Given the description of an element on the screen output the (x, y) to click on. 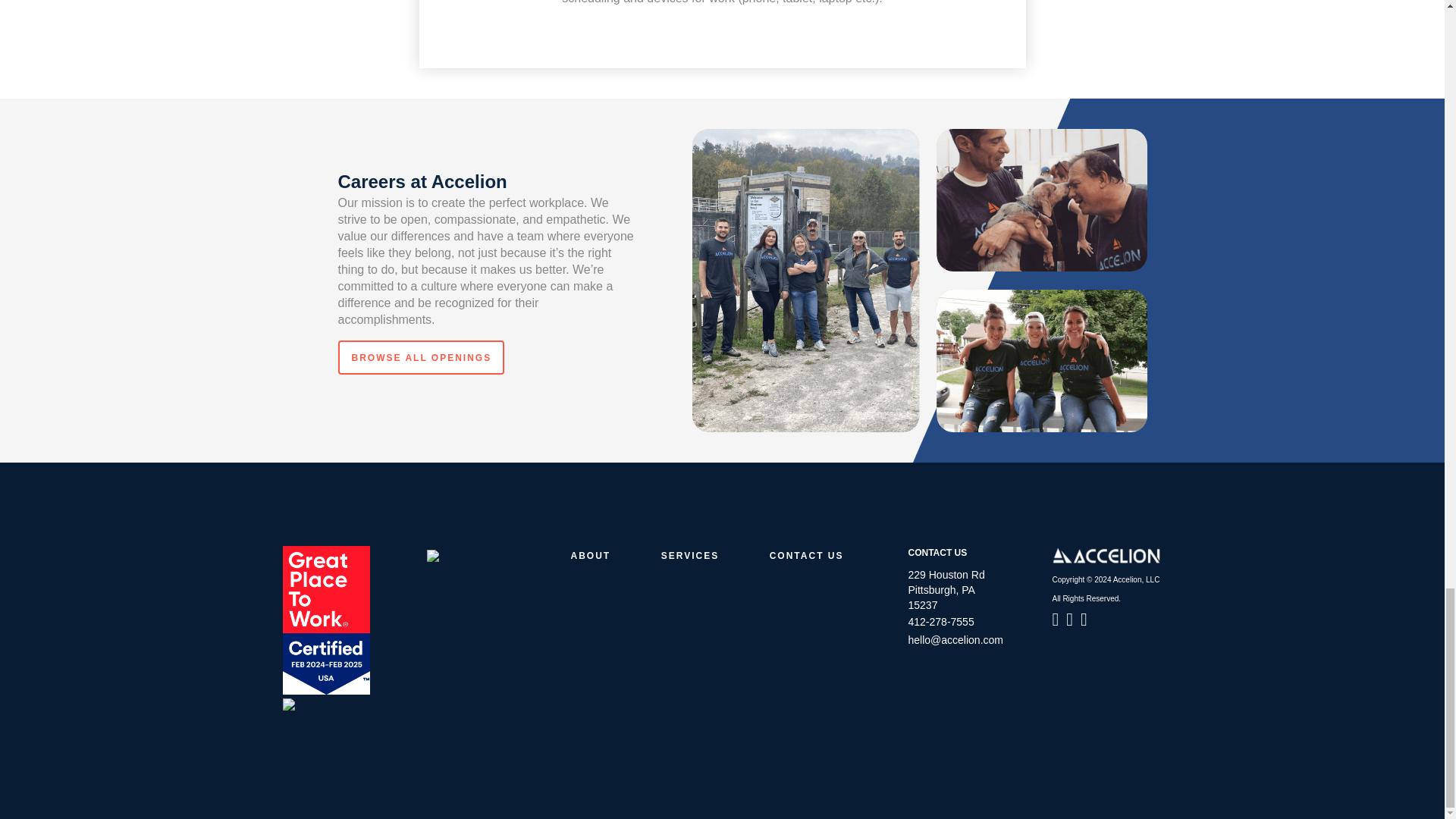
SERVICES (690, 555)
ABOUT (590, 555)
412-278-7555 (941, 621)
CONTACT US (807, 555)
BROWSE ALL OPENINGS (421, 357)
Rating and Review (325, 619)
